Given the description of an element on the screen output the (x, y) to click on. 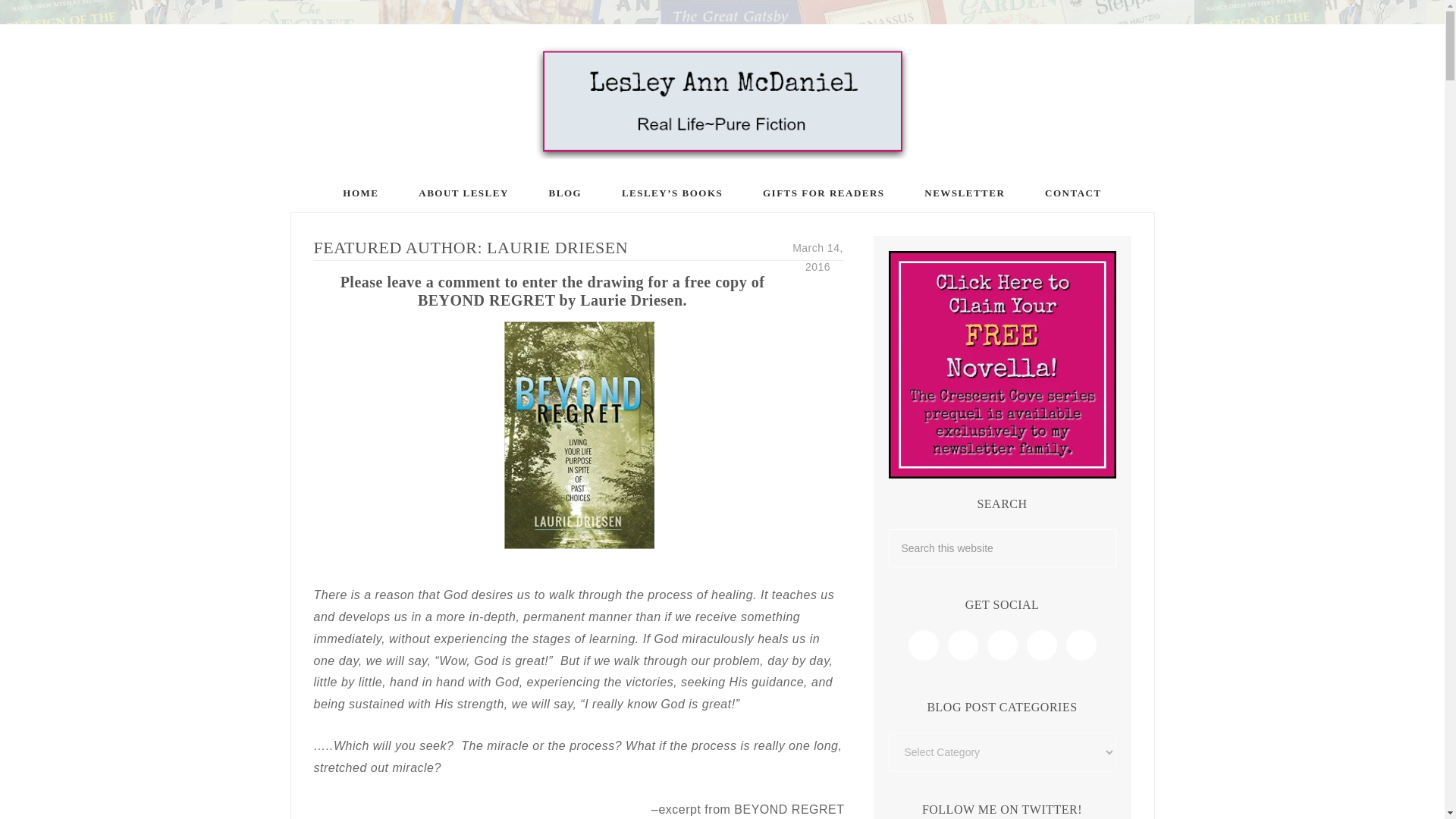
GIFTS FOR READERS (823, 193)
NEWSLETTER (964, 193)
LESLEY ANN MCDANIEL (721, 101)
CONTACT (1072, 193)
HOME (360, 193)
BLOG (565, 193)
ABOUT LESLEY (463, 193)
